Given the description of an element on the screen output the (x, y) to click on. 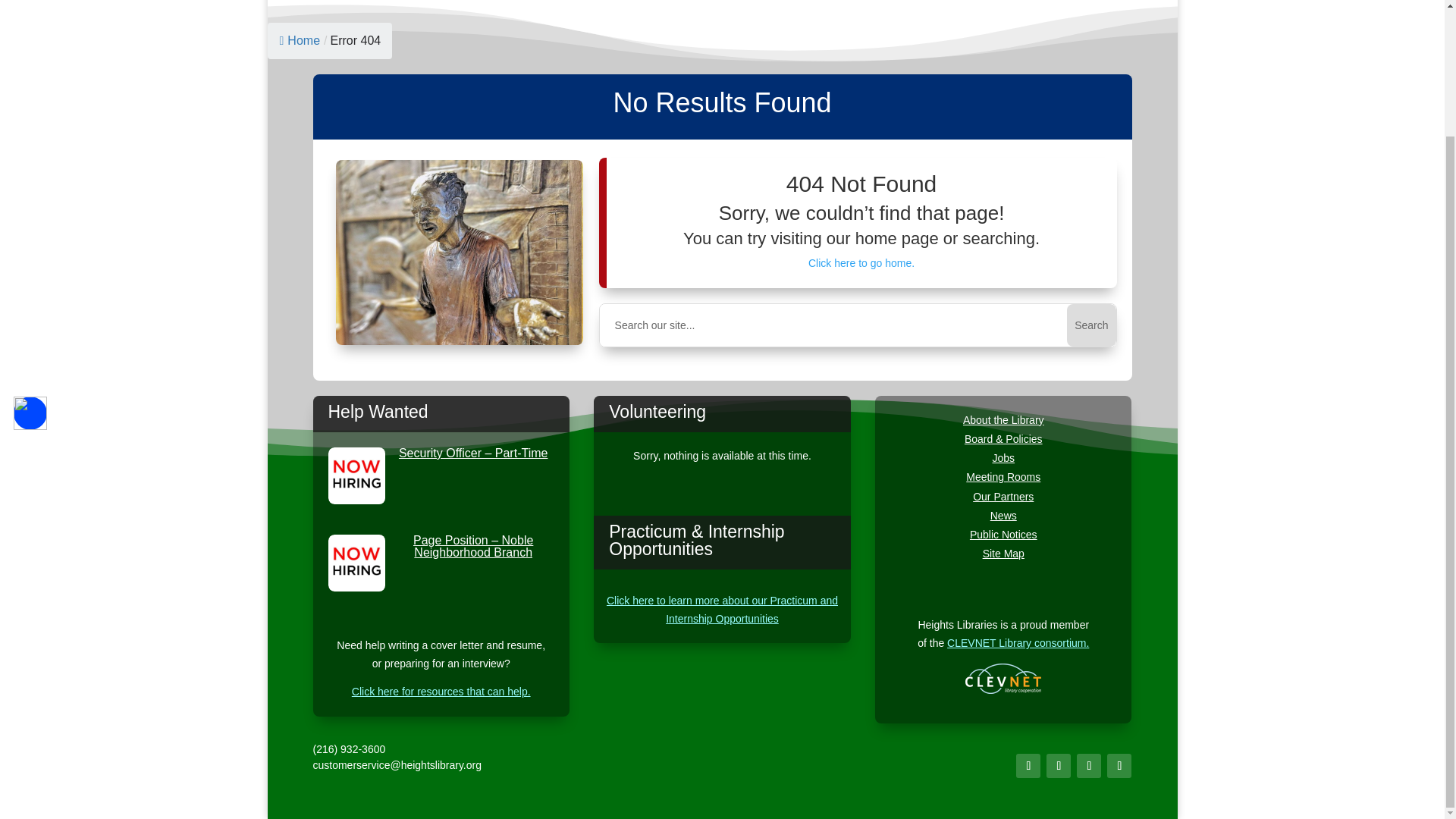
Follow on Instagram (1058, 765)
Follow on RSS (1118, 765)
Accessibility Menu (29, 259)
Search (1091, 324)
Search (1091, 324)
Follow on Facebook (1028, 765)
Follow on Youtube (1088, 765)
harvey-shrug (459, 251)
